Given the description of an element on the screen output the (x, y) to click on. 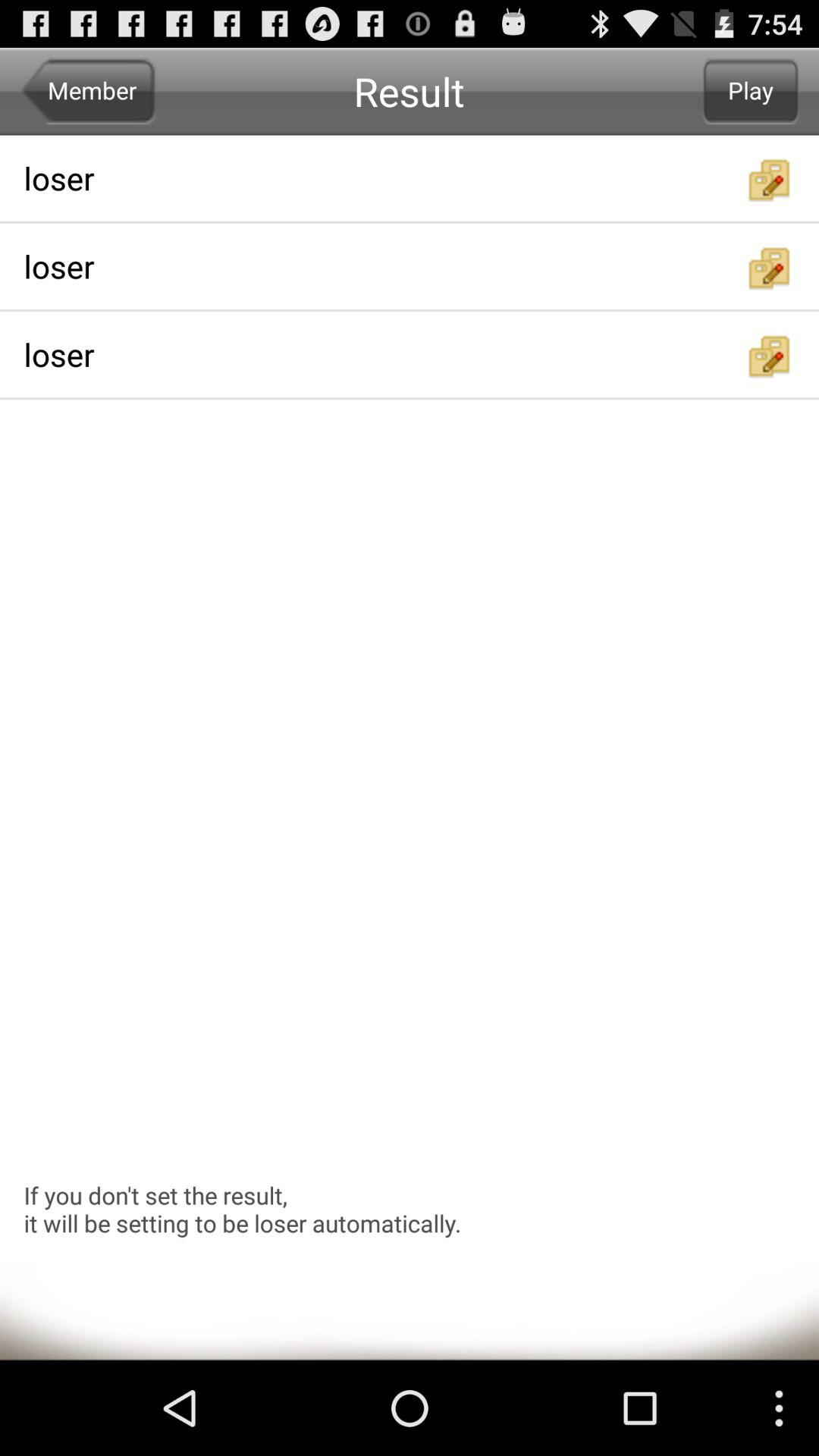
shares a folder (770, 267)
